Given the description of an element on the screen output the (x, y) to click on. 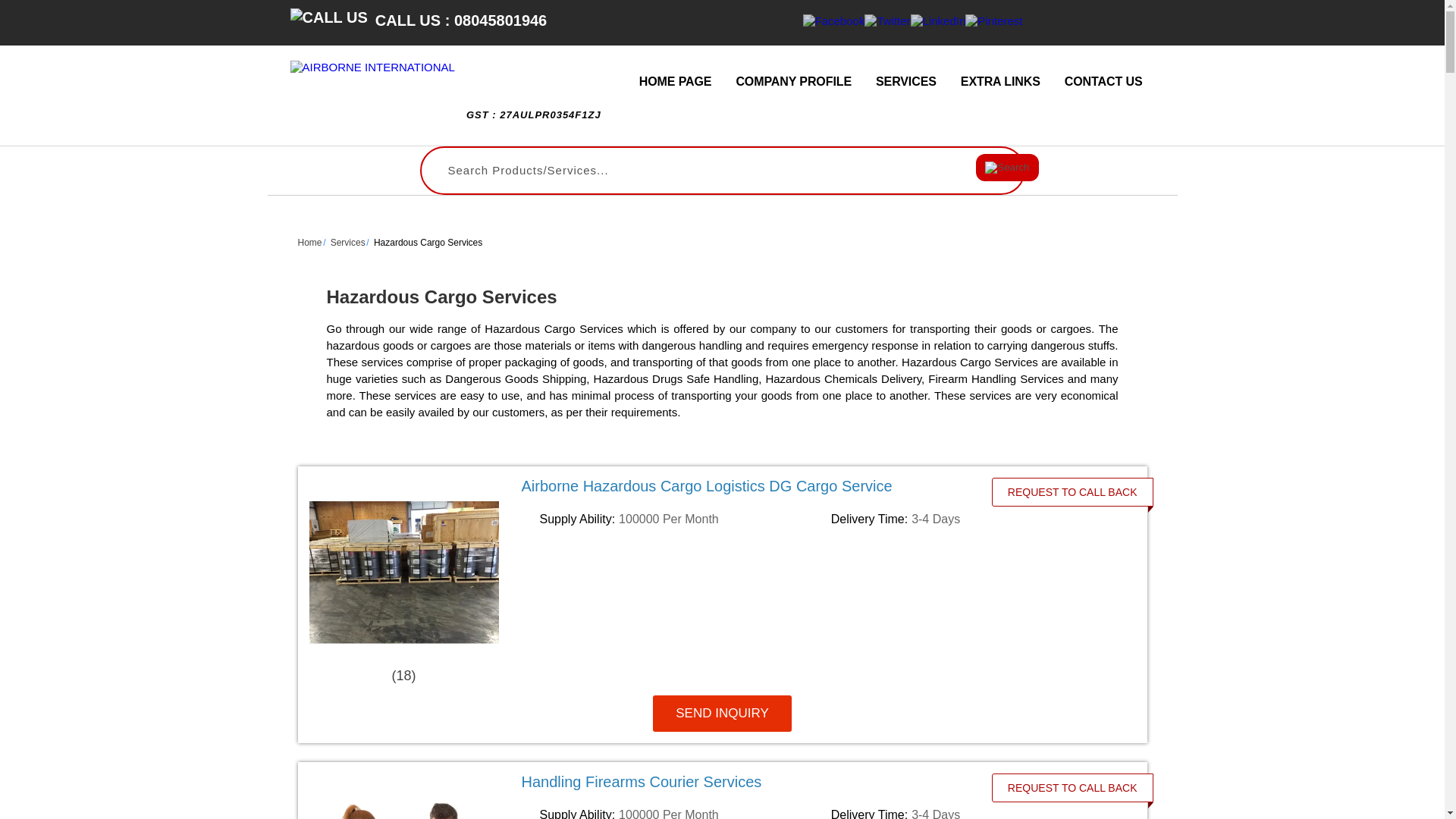
HOME PAGE (675, 81)
Airborne Hazardous Cargo Logistics DG Cargo Service (767, 485)
Supply Ability: 100000 Per Month (682, 812)
GST : 27AULPR0354F1ZJ (534, 122)
Call Us (327, 17)
Handling Firearms Courier Services (767, 781)
LinkedIn (938, 20)
Search (1006, 166)
Delivery Time: 3-4 Days (973, 519)
Supply Ability: 100000 Per Month (682, 519)
